Given the description of an element on the screen output the (x, y) to click on. 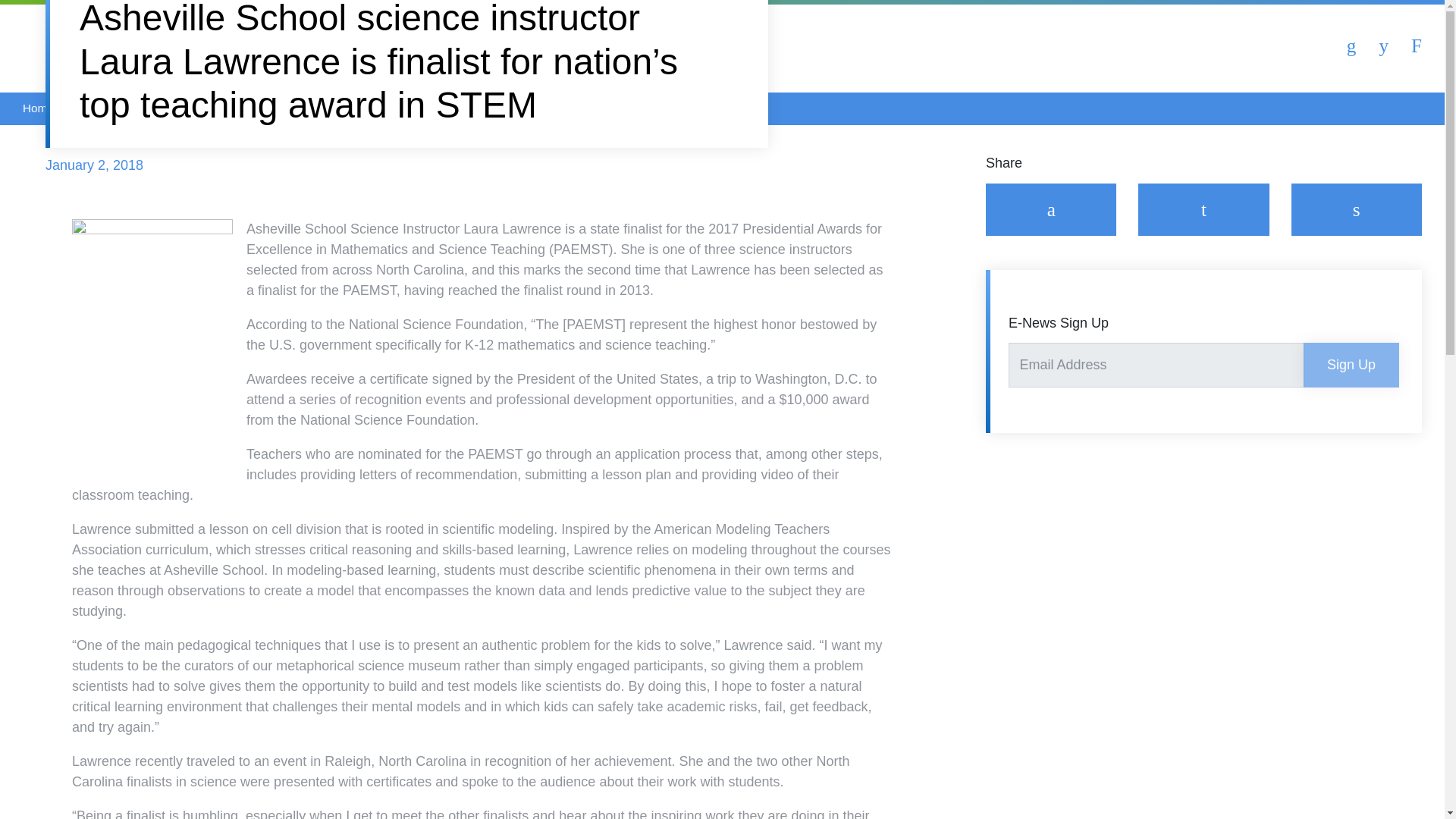
Home (38, 107)
Asheville Area Chamber of Commerce (79, 45)
Facebook (1050, 209)
Sign Up (1351, 365)
Twitter (1203, 209)
Email (1355, 209)
Asheville-Buncombe County Economic Development Coalition (215, 45)
